Given the description of an element on the screen output the (x, y) to click on. 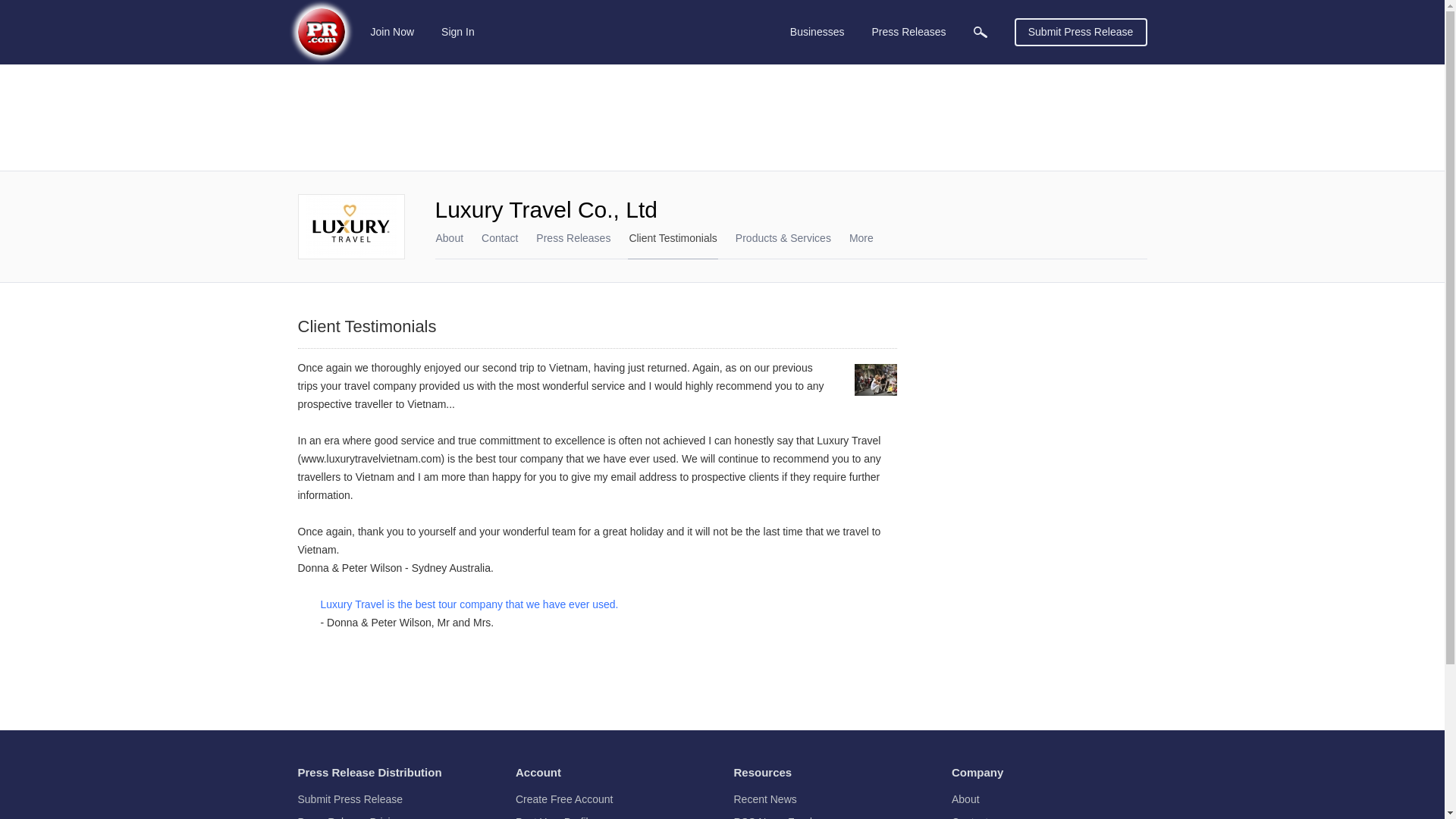
Join Now (392, 31)
Press Releases (908, 31)
Businesses (817, 31)
Contact (499, 237)
Sign In (458, 31)
Advertisement (722, 117)
Submit Press Release (1080, 31)
More (861, 245)
Client Testimonials (672, 237)
About (449, 237)
Press Releases (573, 237)
Advertisement (1032, 442)
